Given the description of an element on the screen output the (x, y) to click on. 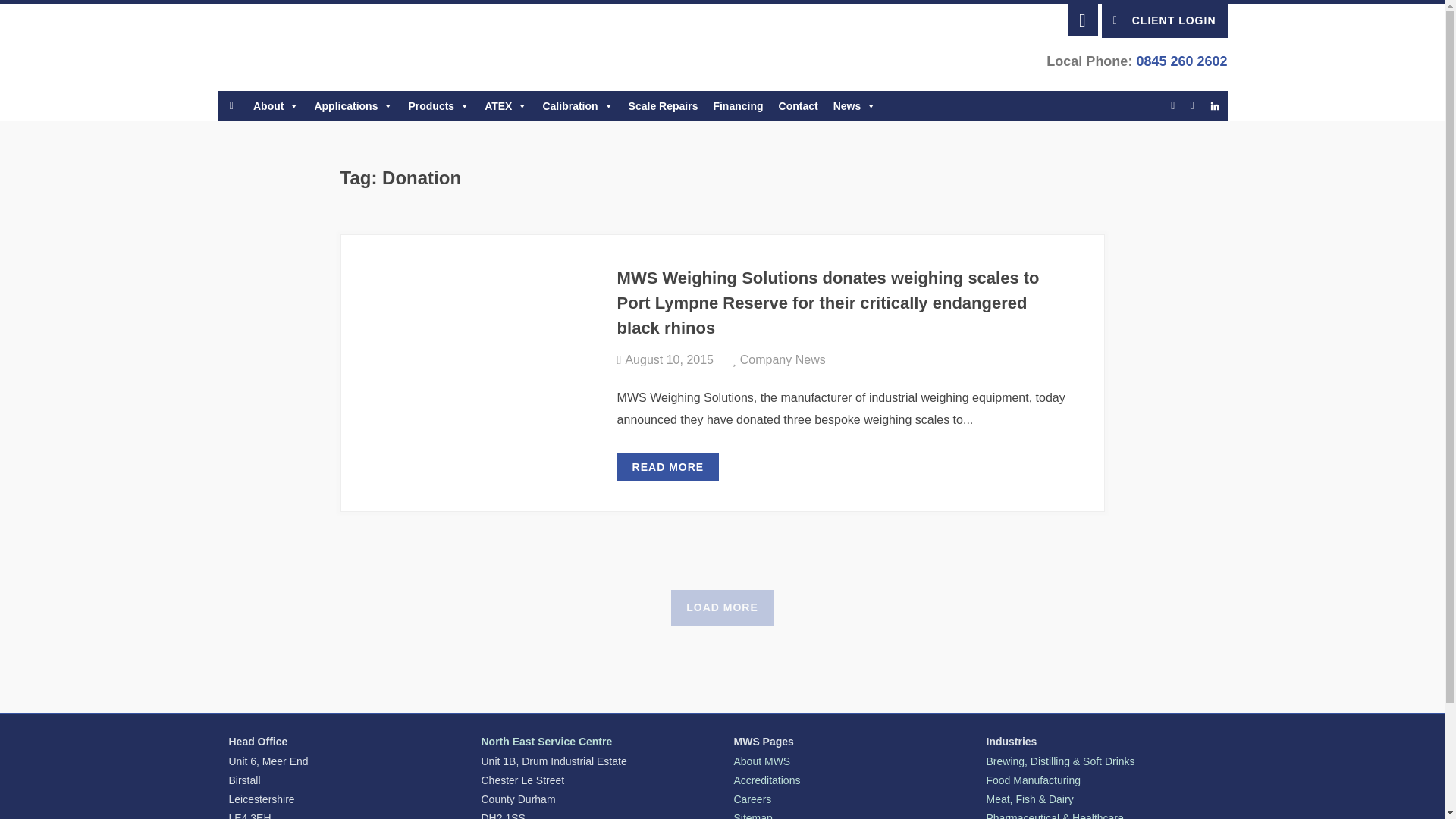
0845 260 2602 (1179, 61)
Products (438, 105)
Applications (352, 105)
About (275, 105)
CLIENT LOGIN (1164, 20)
MWS Weighing Solutions (287, 47)
